Given the description of an element on the screen output the (x, y) to click on. 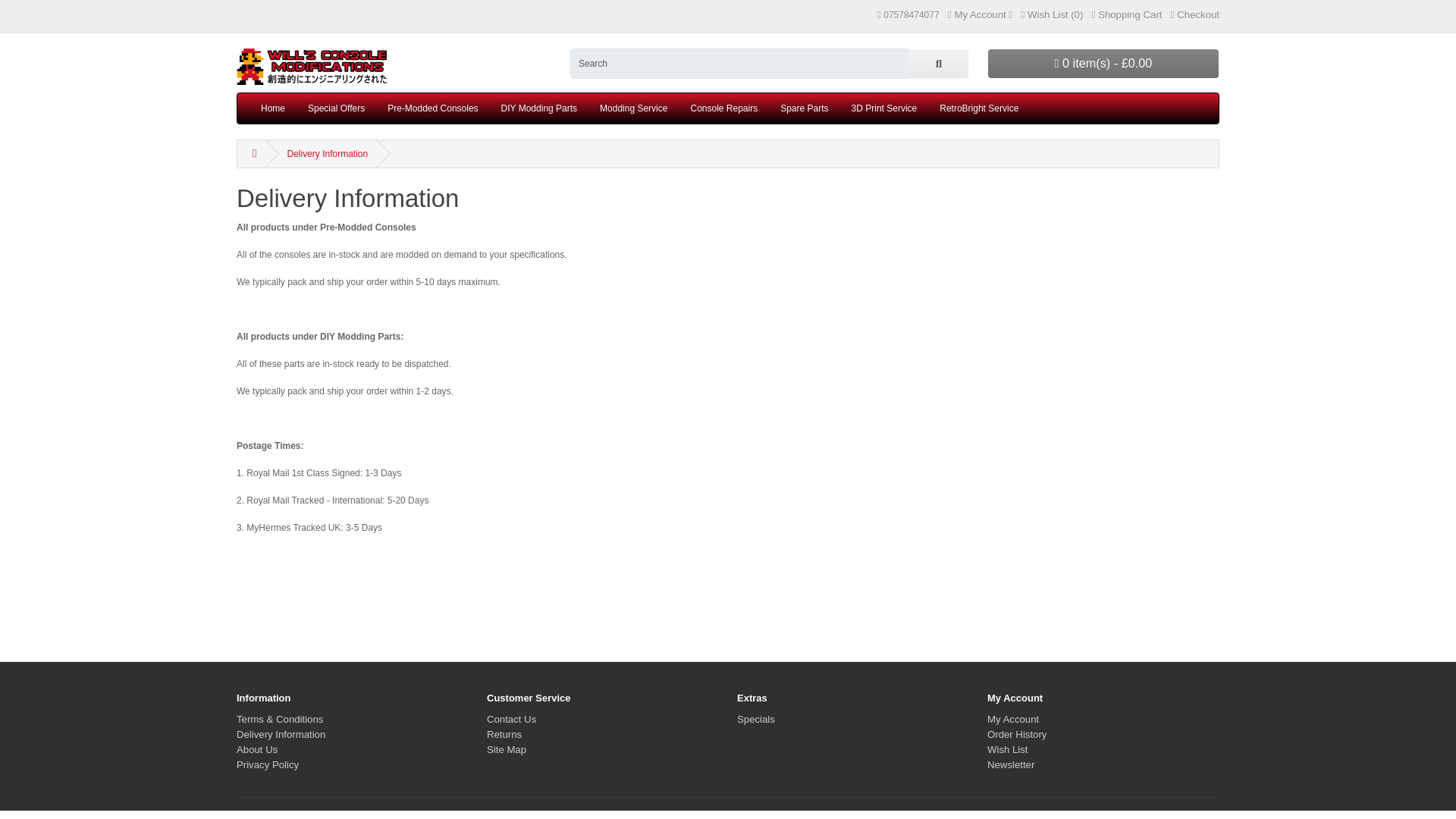
Delivery Information (327, 153)
Checkout (1195, 14)
Modding Service (633, 108)
RetroBright Service (978, 108)
Console Repairs (723, 108)
Shopping Cart (1126, 14)
3D Print Service (884, 108)
Shopping Cart (1126, 14)
Spare Parts (804, 108)
Home (272, 108)
